Given the description of an element on the screen output the (x, y) to click on. 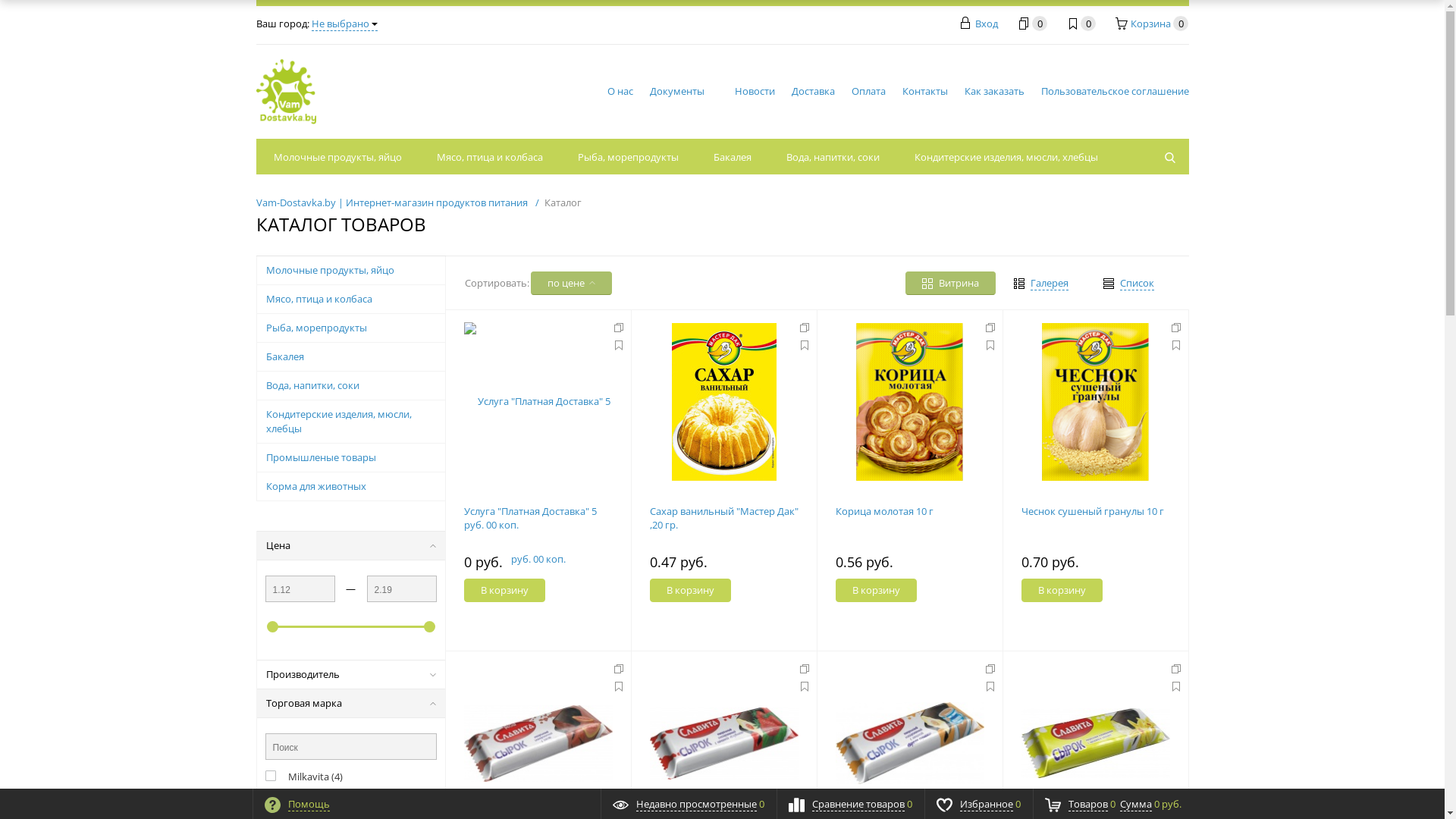
Milkavita (4) Element type: text (303, 775)
0 Element type: text (1031, 23)
LOGO1.png Element type: hover (286, 91)
0 Element type: text (1079, 23)
